Given the description of an element on the screen output the (x, y) to click on. 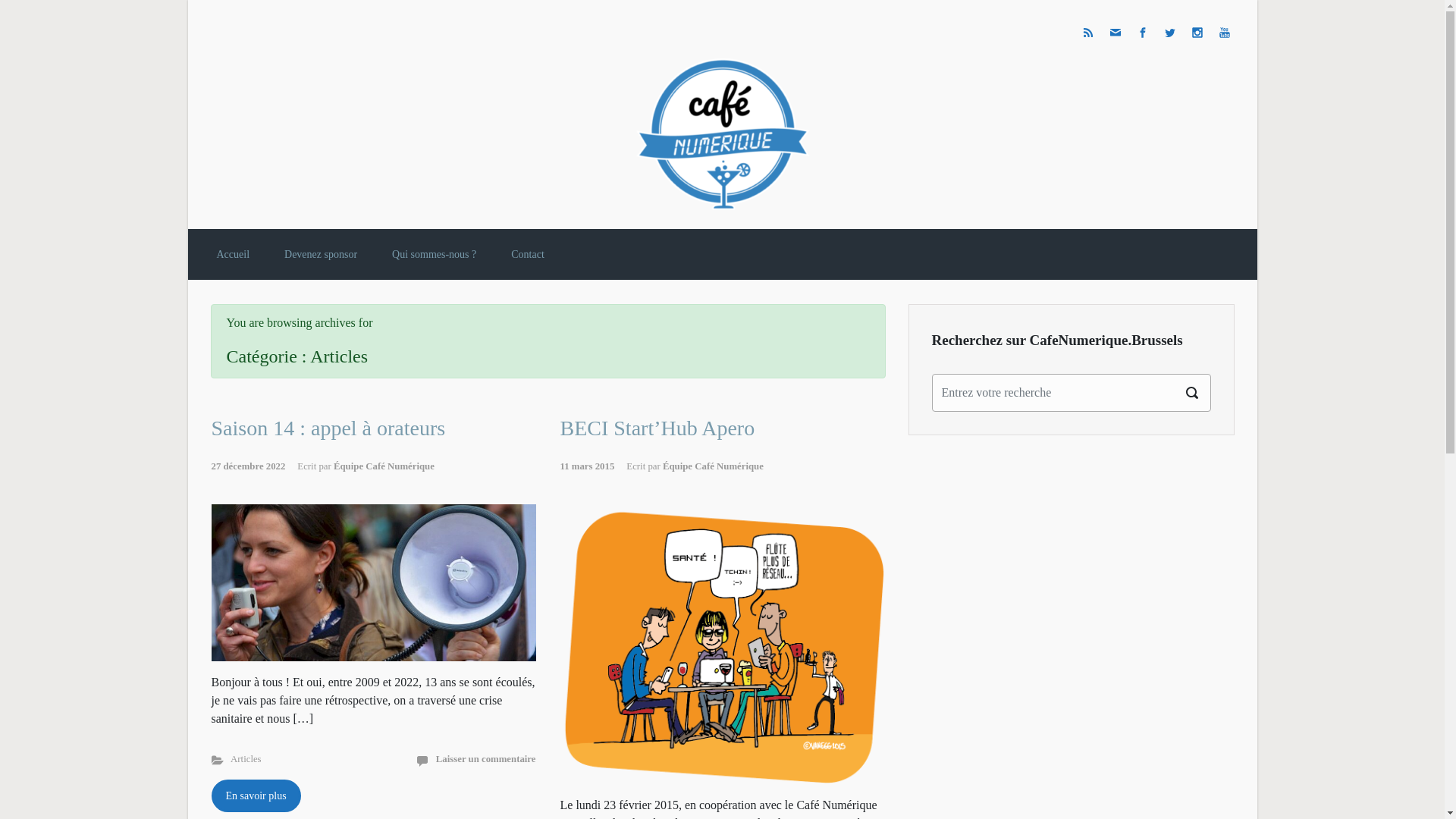
Devenez sponsor Element type: text (320, 254)
11 mars 2015 Element type: text (592, 466)
Contact Element type: text (527, 254)
Laisser un commentaire Element type: text (486, 758)
En savoir plus Element type: text (255, 795)
Qui sommes-nous ? Element type: text (433, 254)
Accueil Element type: text (233, 254)
Articles Element type: text (245, 758)
